Given the description of an element on the screen output the (x, y) to click on. 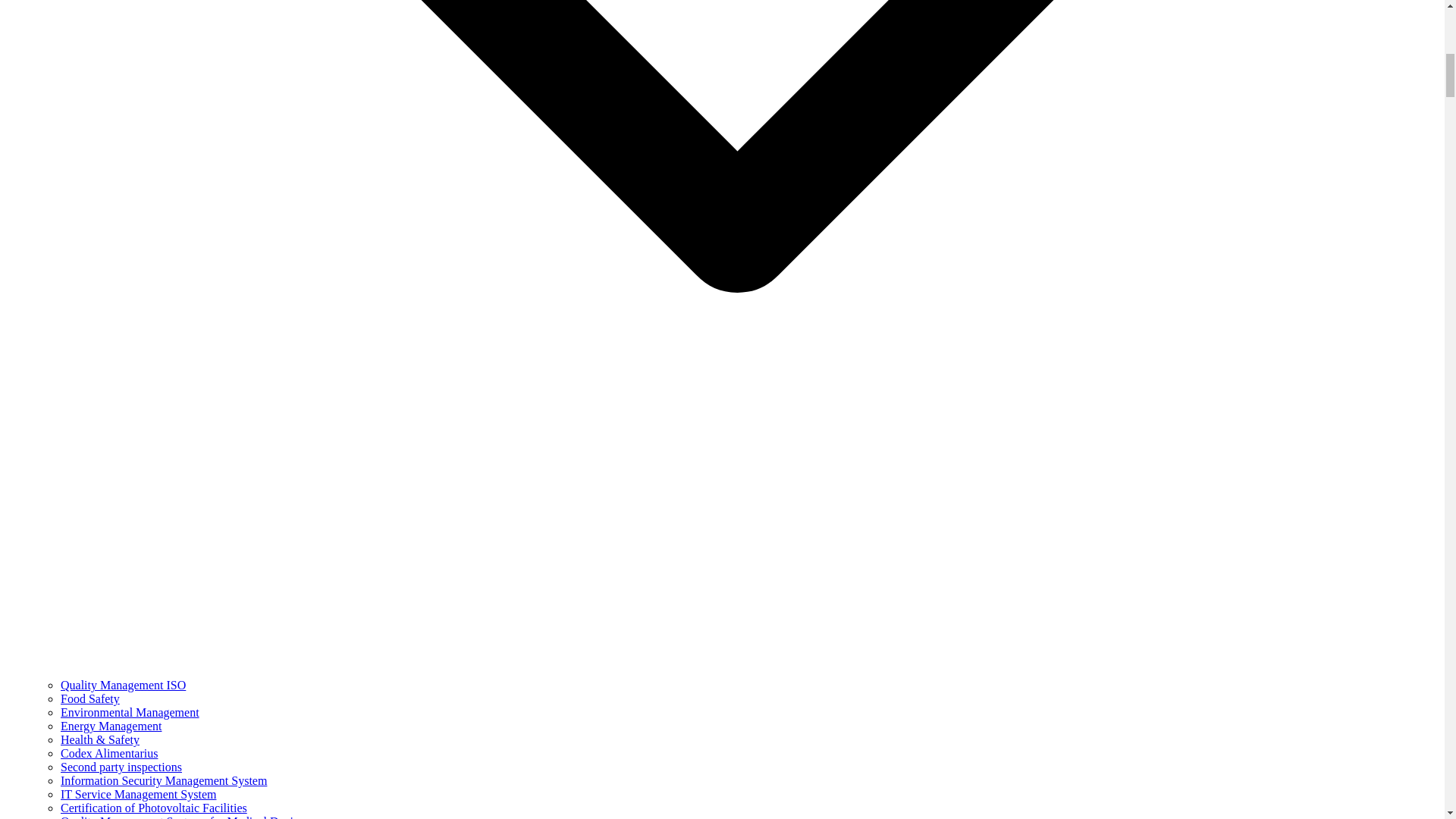
Energy Management (111, 725)
Information Security Management System (163, 780)
Codex Alimentarius (109, 753)
Certification of Photovoltaic Facilities (154, 807)
Quality Management Systems for Medical Devices (184, 816)
Environmental Management (130, 712)
Quality Management ISO (123, 684)
Second party inspections (121, 766)
IT Service Management System (138, 793)
Food Safety (90, 698)
